Given the description of an element on the screen output the (x, y) to click on. 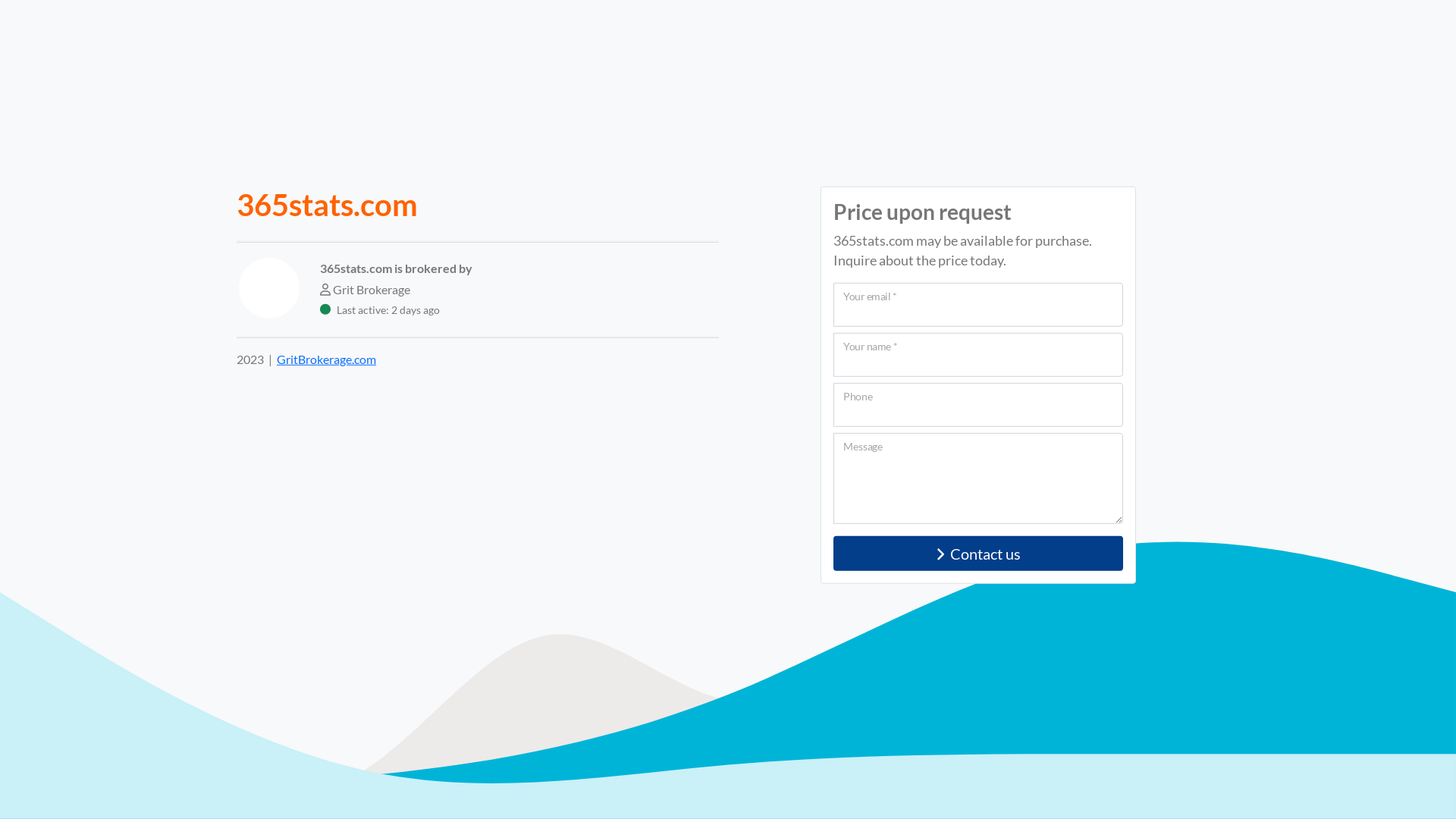
GritBrokerage.com Element type: text (326, 358)
Contact us Element type: text (978, 553)
